Given the description of an element on the screen output the (x, y) to click on. 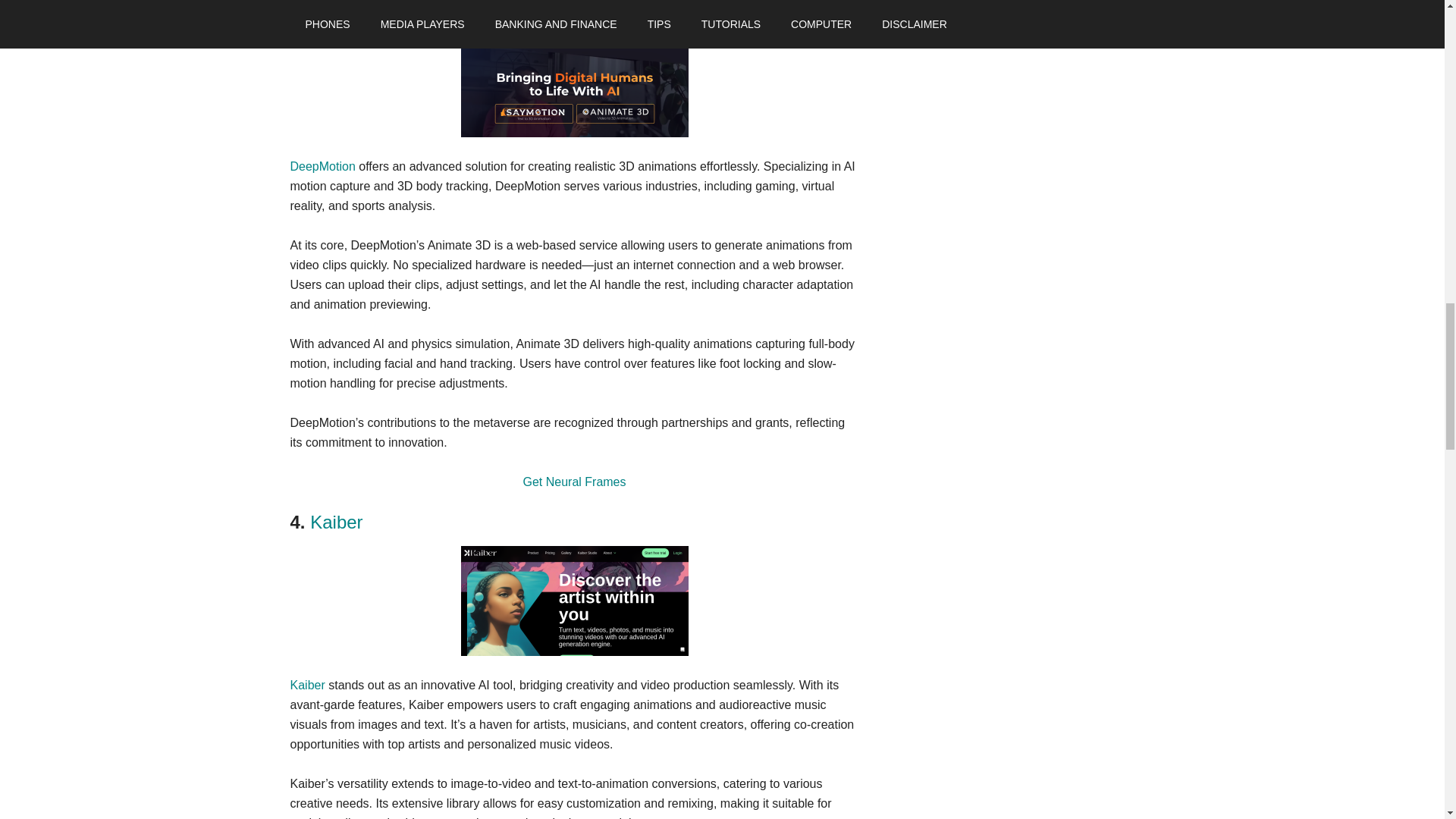
Kaiber (306, 684)
Kaiber (336, 521)
The best AI Tools for Animation 4 (574, 601)
The best AI Tools for Animation 3 (574, 86)
DeepMotion (358, 11)
DeepMotion (322, 165)
Get Neural Frames (574, 481)
